Given the description of an element on the screen output the (x, y) to click on. 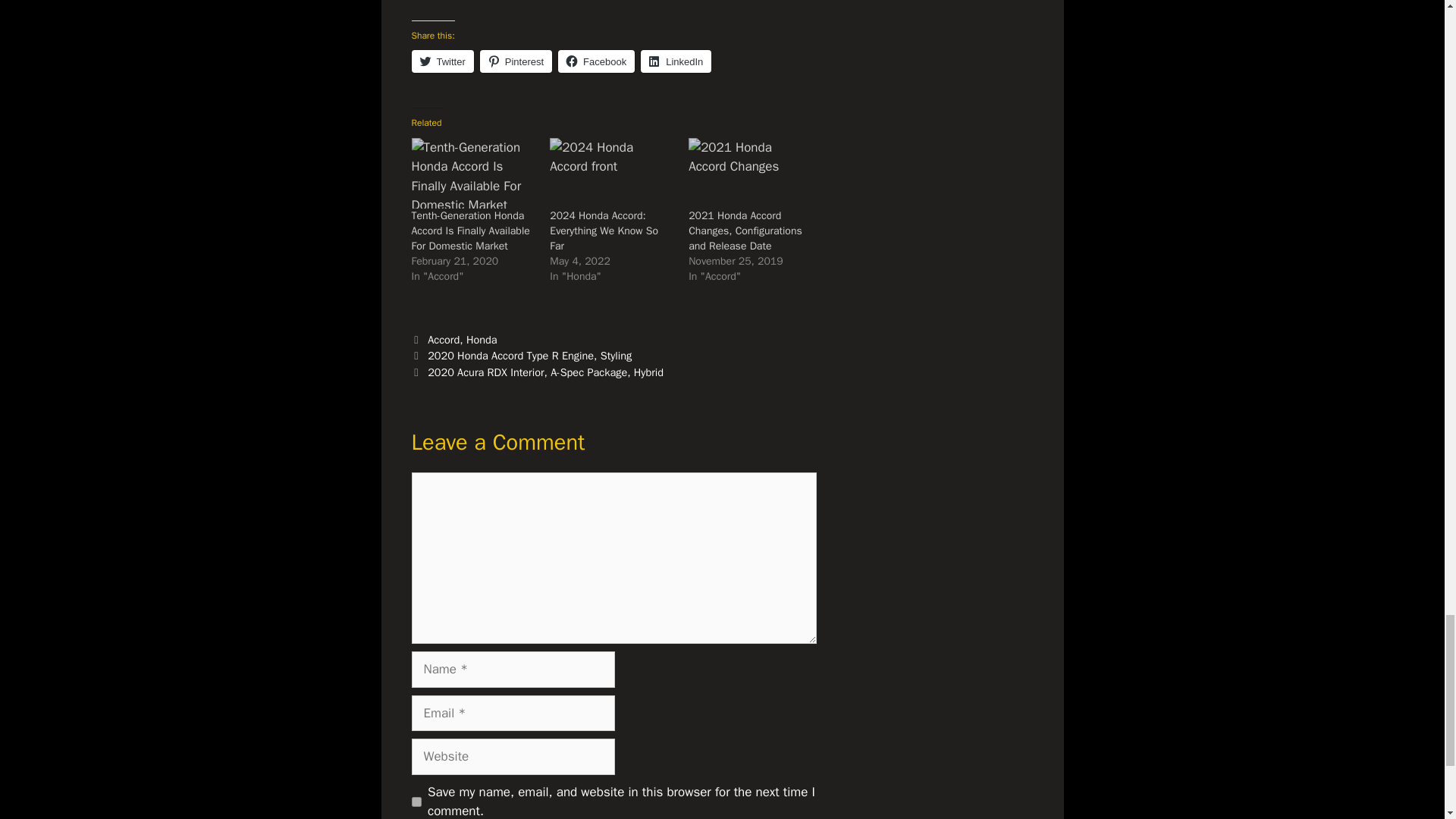
Facebook (595, 60)
Twitter (441, 60)
2024 Honda Accord: Everything We Know So Far (611, 173)
2021 Honda Accord Changes, Configurations and Release Date (745, 230)
2020 Acura RDX Interior, A-Spec Package, Hybrid (545, 372)
Accord (444, 339)
2024 Honda Accord: Everything We Know So Far (604, 230)
yes (415, 801)
Click to share on Pinterest (515, 60)
2021 Honda Accord Changes, Configurations and Release Date (750, 173)
Honda (481, 339)
2024 Honda Accord: Everything We Know So Far (604, 230)
